Given the description of an element on the screen output the (x, y) to click on. 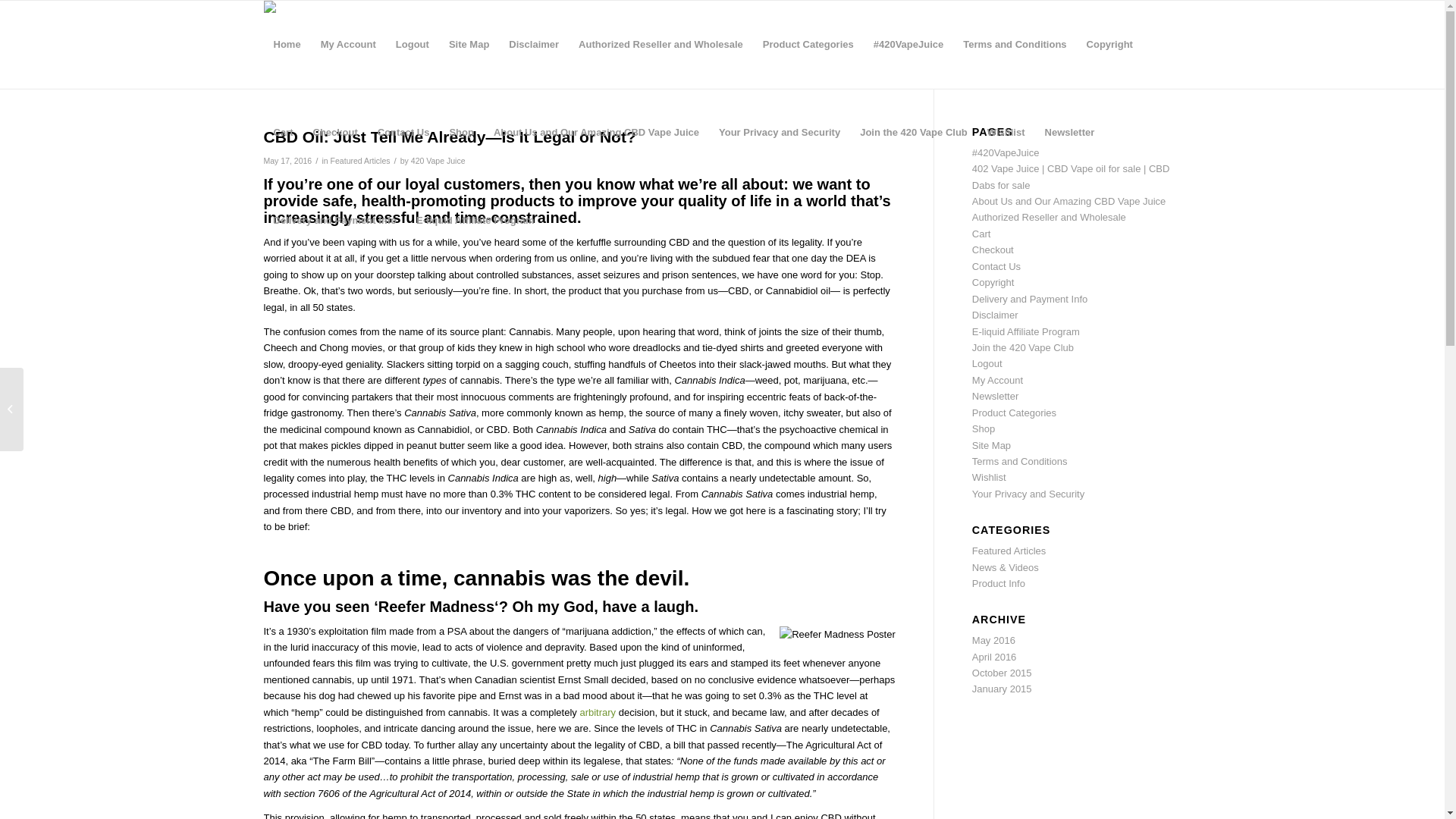
Newsletter Element type: text (1069, 132)
#420VapeJuice Element type: text (1005, 152)
October 2015 Element type: text (1002, 672)
January 2015 Element type: text (1002, 688)
Cart Element type: text (981, 233)
E-liquid Affiliate Program Element type: text (1025, 331)
Contact Us Element type: text (996, 266)
Site Map Element type: text (991, 445)
Copyright Element type: text (993, 282)
Authorized Reseller and Wholesale Element type: text (660, 44)
Your Privacy and Security Element type: text (779, 132)
Checkout Element type: text (335, 132)
arbitrary Element type: text (597, 712)
Home Element type: text (286, 44)
May 2016 Element type: text (993, 640)
Join the 420 Vape Club Element type: text (1022, 347)
Site Map Element type: text (468, 44)
Product Info Element type: text (998, 583)
Shop Element type: text (461, 132)
My Account Element type: text (997, 379)
#420VapeJuice Element type: text (908, 44)
Contact Us Element type: text (403, 132)
Disclaimer Element type: text (533, 44)
April 2016 Element type: text (994, 656)
Logout Element type: text (987, 363)
Copyright Element type: text (1109, 44)
Checkout Element type: text (992, 249)
Product Categories Element type: text (1014, 412)
Wishlist Element type: text (989, 477)
News & Videos Element type: text (1005, 566)
Logout Element type: text (412, 44)
Authorized Reseller and Wholesale Element type: text (1049, 216)
402 Vape Juice | CBD Vape oil for sale | CBD Dabs for sale Element type: text (1071, 176)
My Account Element type: text (347, 44)
Terms and Conditions Element type: text (1014, 44)
Delivery and Payment Info Element type: text (1029, 298)
Shop Element type: text (983, 428)
Featured Articles Element type: text (360, 160)
Featured Articles Element type: text (1009, 550)
420 Vape Juice Element type: text (438, 160)
About Us and Our Amazing CBD Vape Juice Element type: text (596, 132)
Wishlist Element type: text (1006, 132)
Product Categories Element type: text (808, 44)
Your Privacy and Security Element type: text (1028, 493)
E-liquid Affiliate Program Element type: text (475, 220)
Newsletter Element type: text (995, 395)
Reefer Madness Element type: text (436, 605)
Terms and Conditions Element type: text (1019, 461)
Delivery and Payment Info Element type: text (335, 220)
Disclaimer Element type: text (995, 314)
About Us and Our Amazing CBD Vape Juice Element type: text (1069, 201)
Cart Element type: text (283, 132)
Join the 420 Vape Club Element type: text (913, 132)
